Given the description of an element on the screen output the (x, y) to click on. 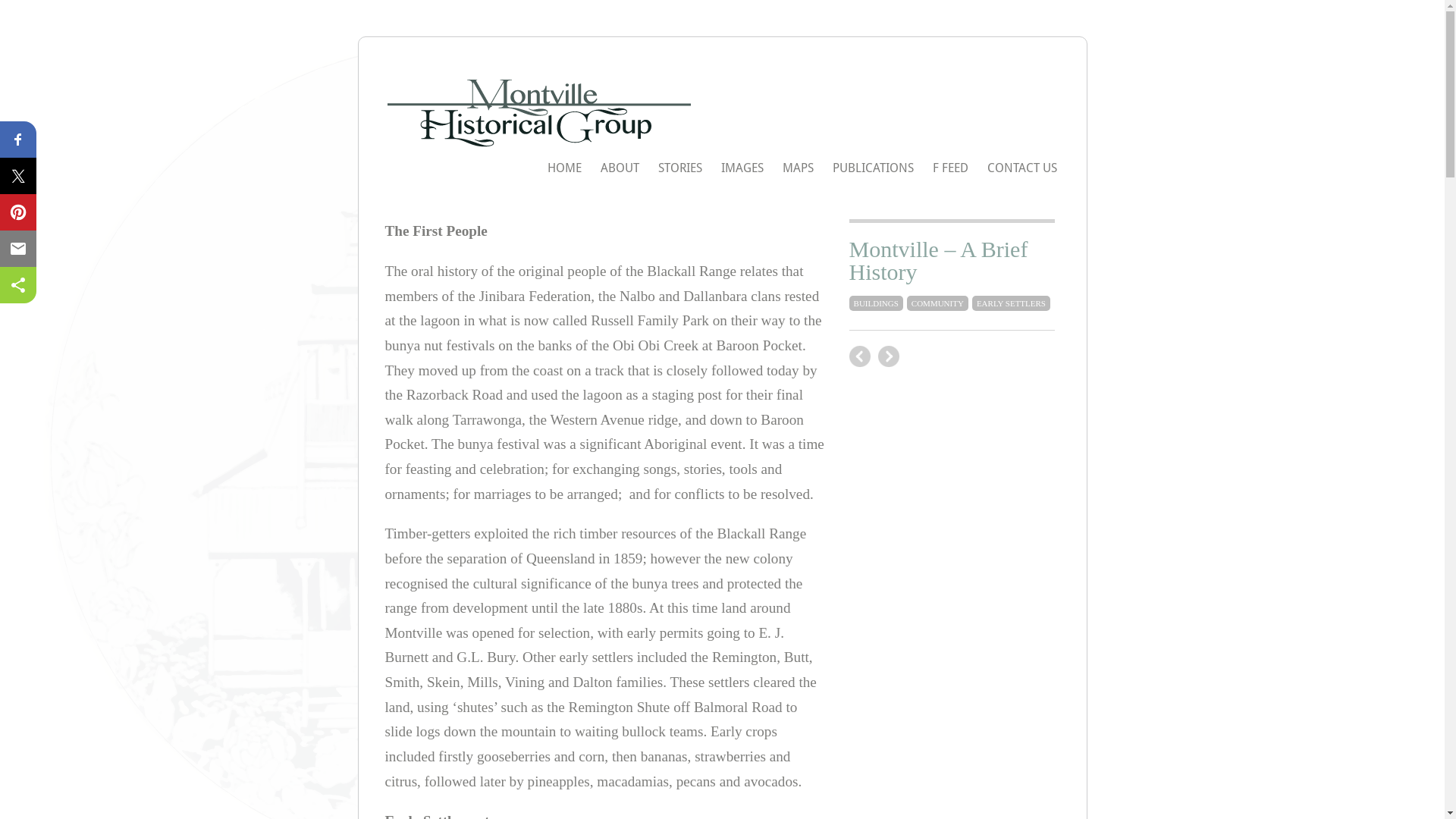
COMMUNITY Element type: text (937, 302)
MAPS Element type: text (797, 167)
previous Element type: text (888, 356)
CONTACT US Element type: text (1022, 167)
HOME Element type: text (564, 167)
STORIES Element type: text (680, 167)
F FEED Element type: text (950, 167)
IMAGES Element type: text (742, 167)
next Element type: text (859, 356)
BUILDINGS Element type: text (876, 302)
PUBLICATIONS Element type: text (872, 167)
EARLY SETTLERS Element type: text (1011, 302)
